Given the description of an element on the screen output the (x, y) to click on. 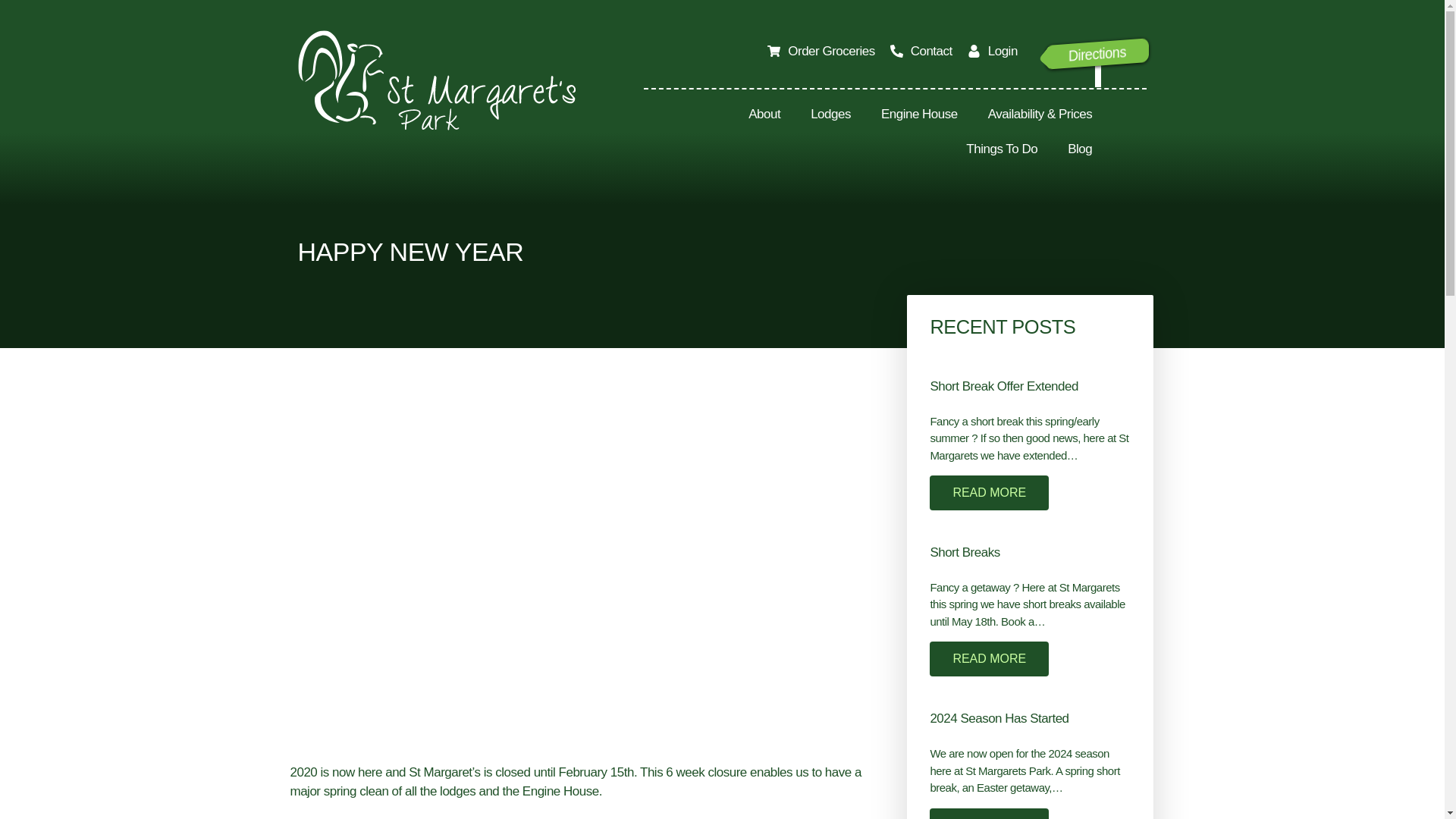
Things To Do (1001, 149)
Engine House (919, 114)
Lodges (830, 114)
Login (992, 51)
Blog (1079, 149)
Contact (920, 51)
Order Groceries (1075, 59)
About (821, 51)
